Given the description of an element on the screen output the (x, y) to click on. 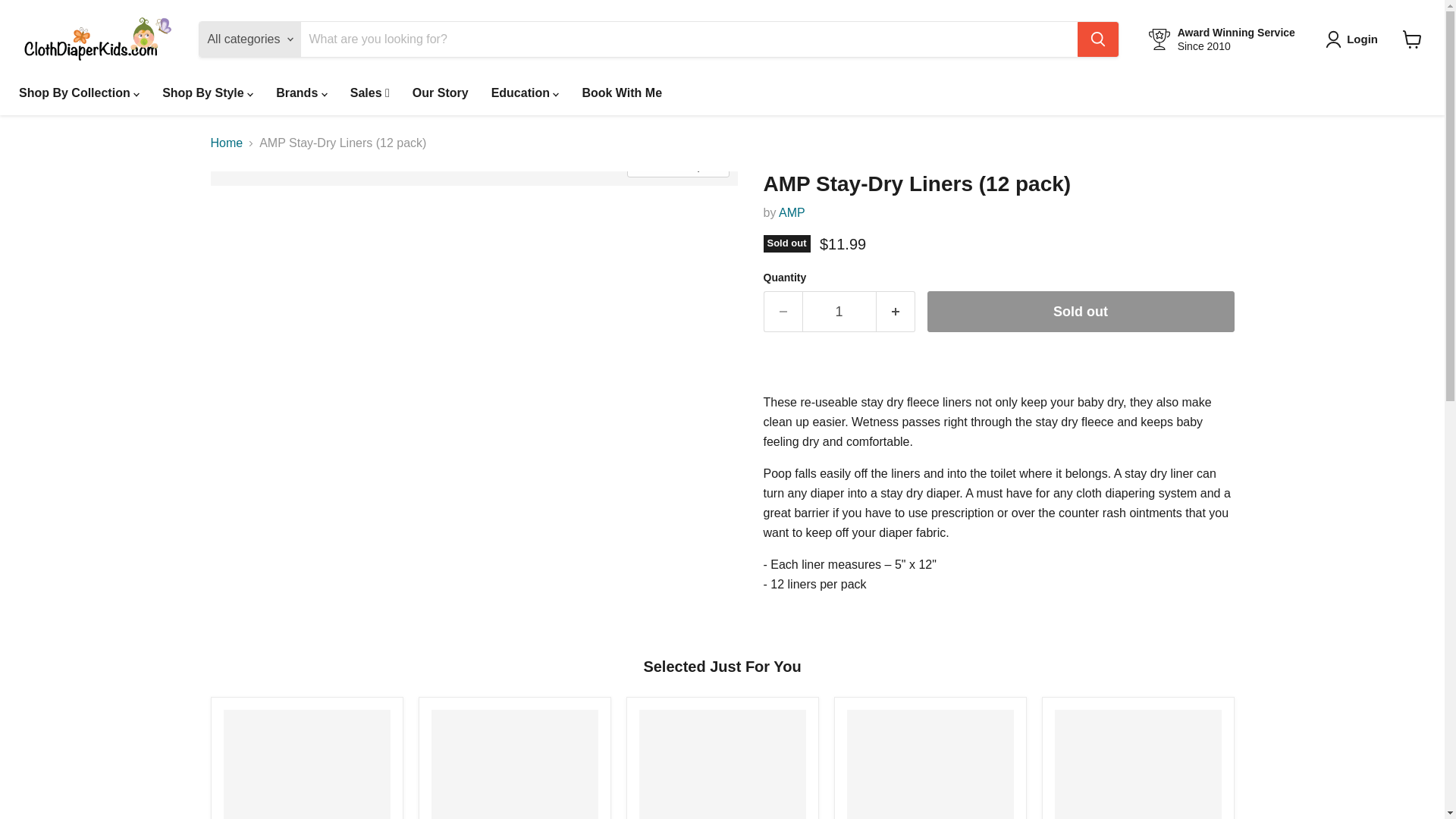
AMP (791, 212)
Login (1354, 39)
1 (839, 311)
View cart (1411, 39)
